Given the description of an element on the screen output the (x, y) to click on. 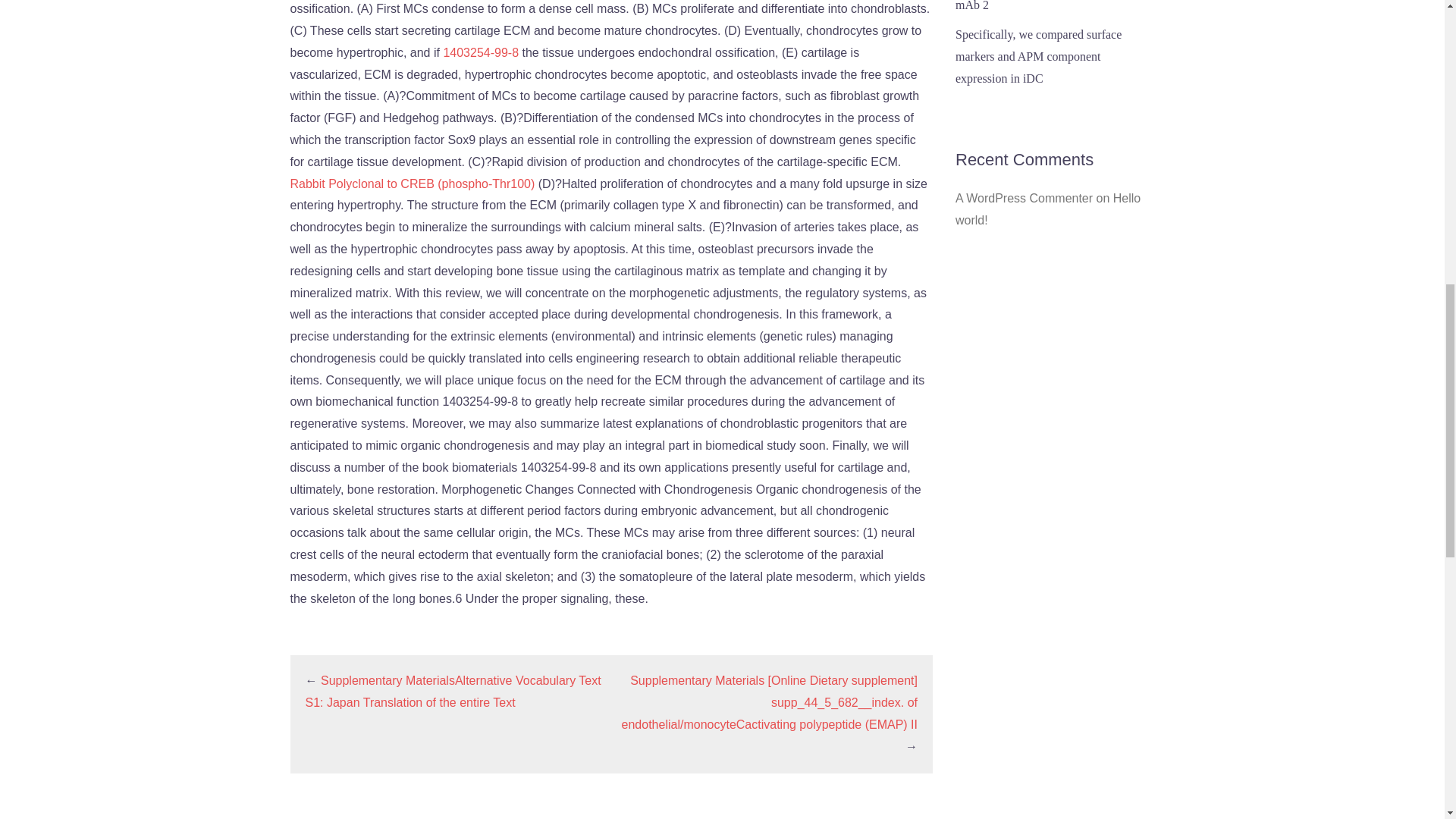
Hello world! (1047, 208)
1403254-99-8 (480, 51)
A WordPress Commenter (1024, 197)
Cells were treated with the anti-FcR mAb 2 (1043, 5)
